Given the description of an element on the screen output the (x, y) to click on. 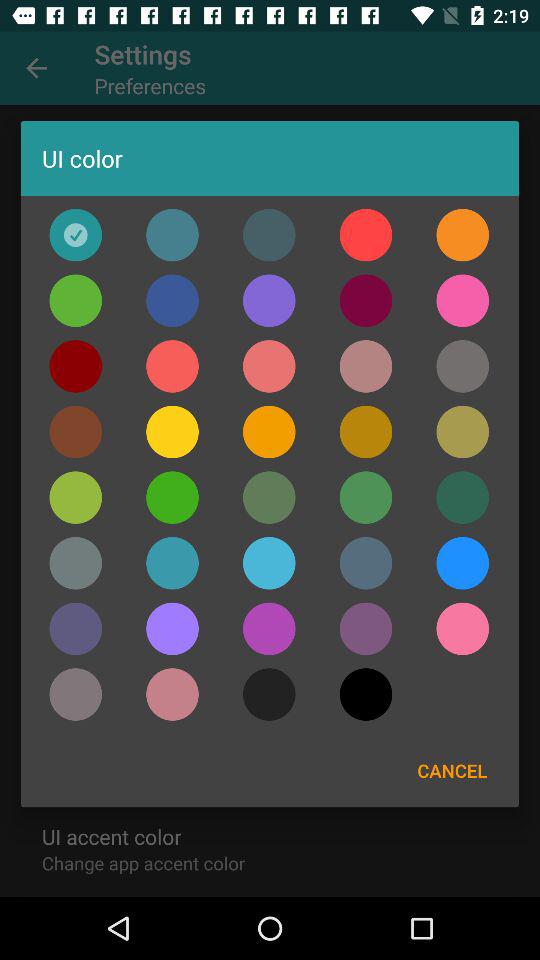
select ui color pink (172, 366)
